Given the description of an element on the screen output the (x, y) to click on. 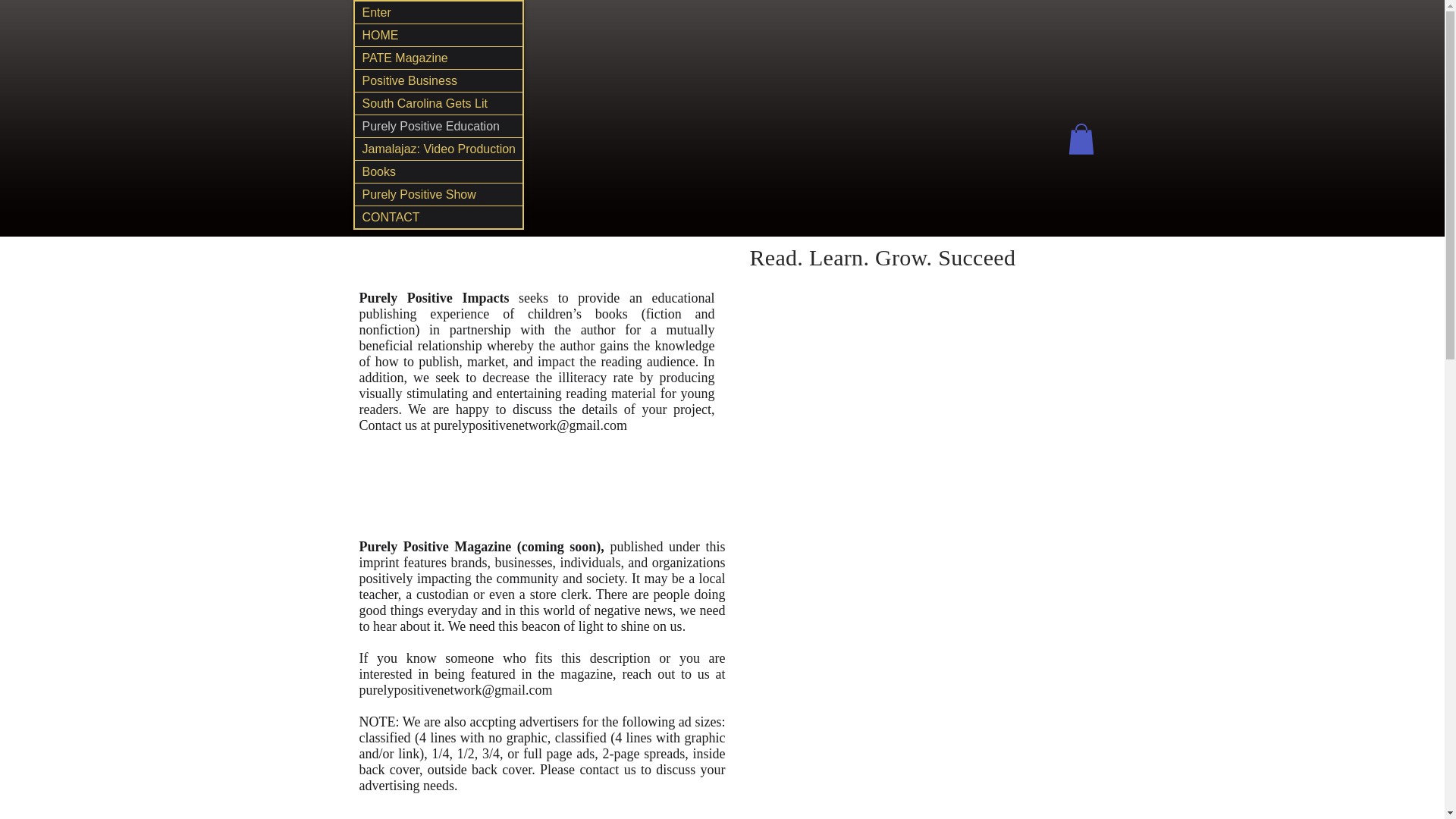
Purely Positive Show (438, 194)
Books (438, 171)
Jamalajaz: Video Production (438, 148)
Positive Business (438, 80)
Purely Positive Education (438, 126)
South Carolina Gets Lit (438, 103)
HOME (438, 34)
PATE Magazine (438, 57)
Enter (438, 12)
